Given the description of an element on the screen output the (x, y) to click on. 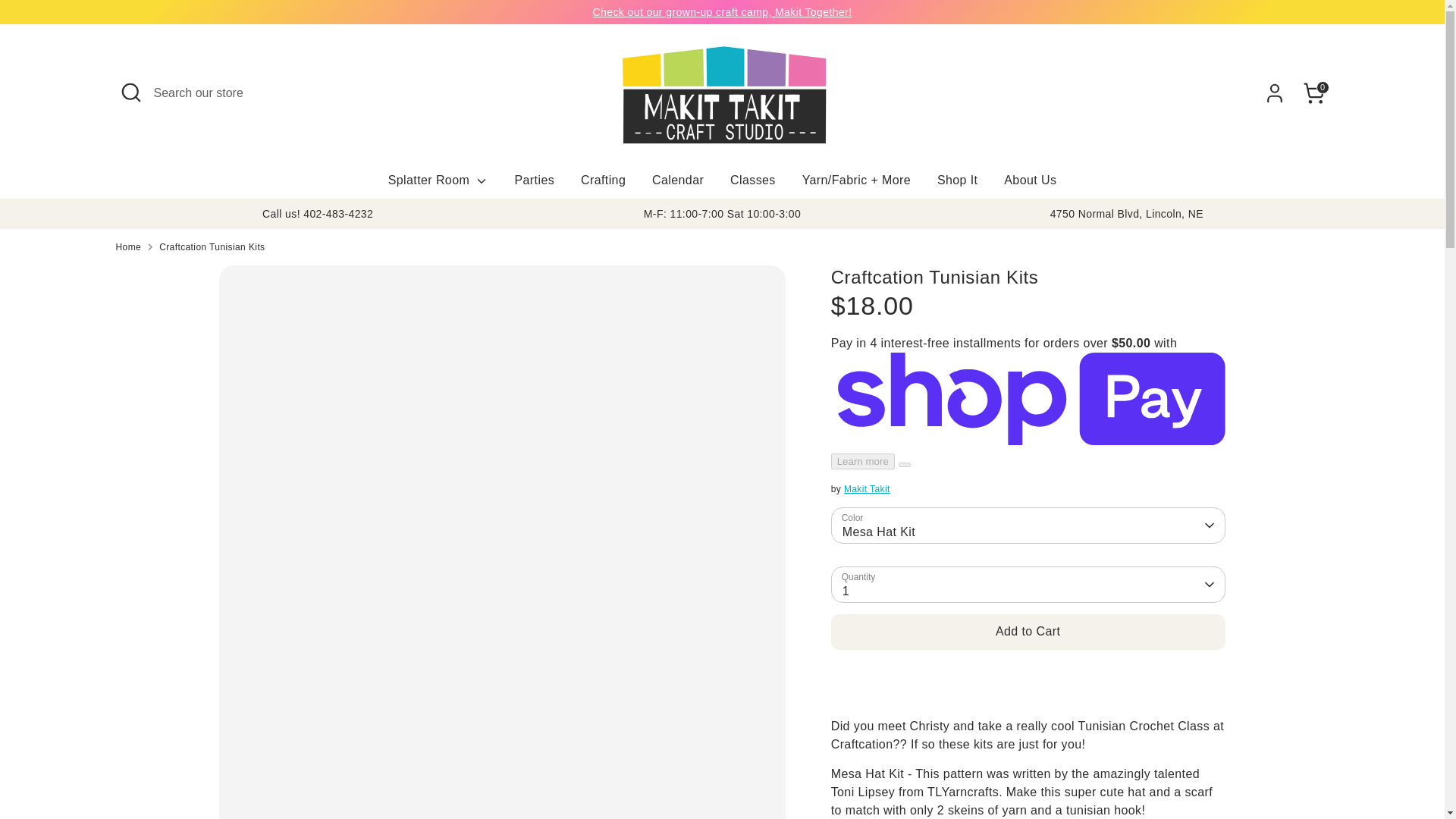
Meta Pay (1130, 771)
About Us (1029, 185)
0 (1312, 92)
Diners Club (1069, 771)
Google Pay (1160, 771)
American Express (1008, 771)
Shop It (958, 185)
Classes (753, 185)
PayPal (1221, 771)
Mastercard (1190, 771)
